Given the description of an element on the screen output the (x, y) to click on. 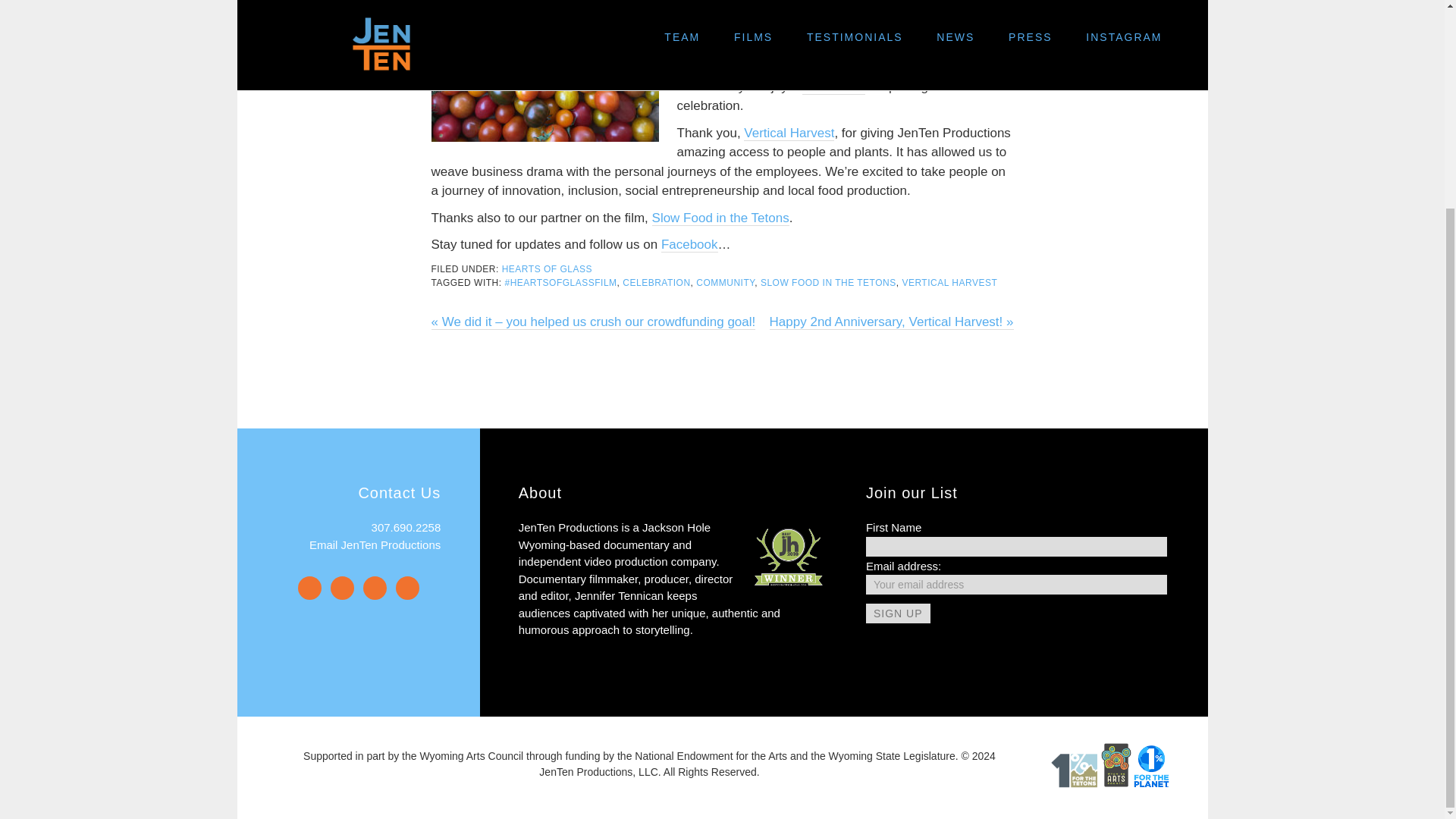
Sign up (898, 613)
COMMUNITY (724, 282)
Sign up (898, 613)
Slow Food in the Tetons (720, 218)
VERTICAL HARVEST (949, 282)
Hearts of Glass (878, 9)
Vertical Harvest (789, 133)
short video (833, 87)
Email JenTen Productions (374, 544)
CELEBRATION (656, 282)
